Given the description of an element on the screen output the (x, y) to click on. 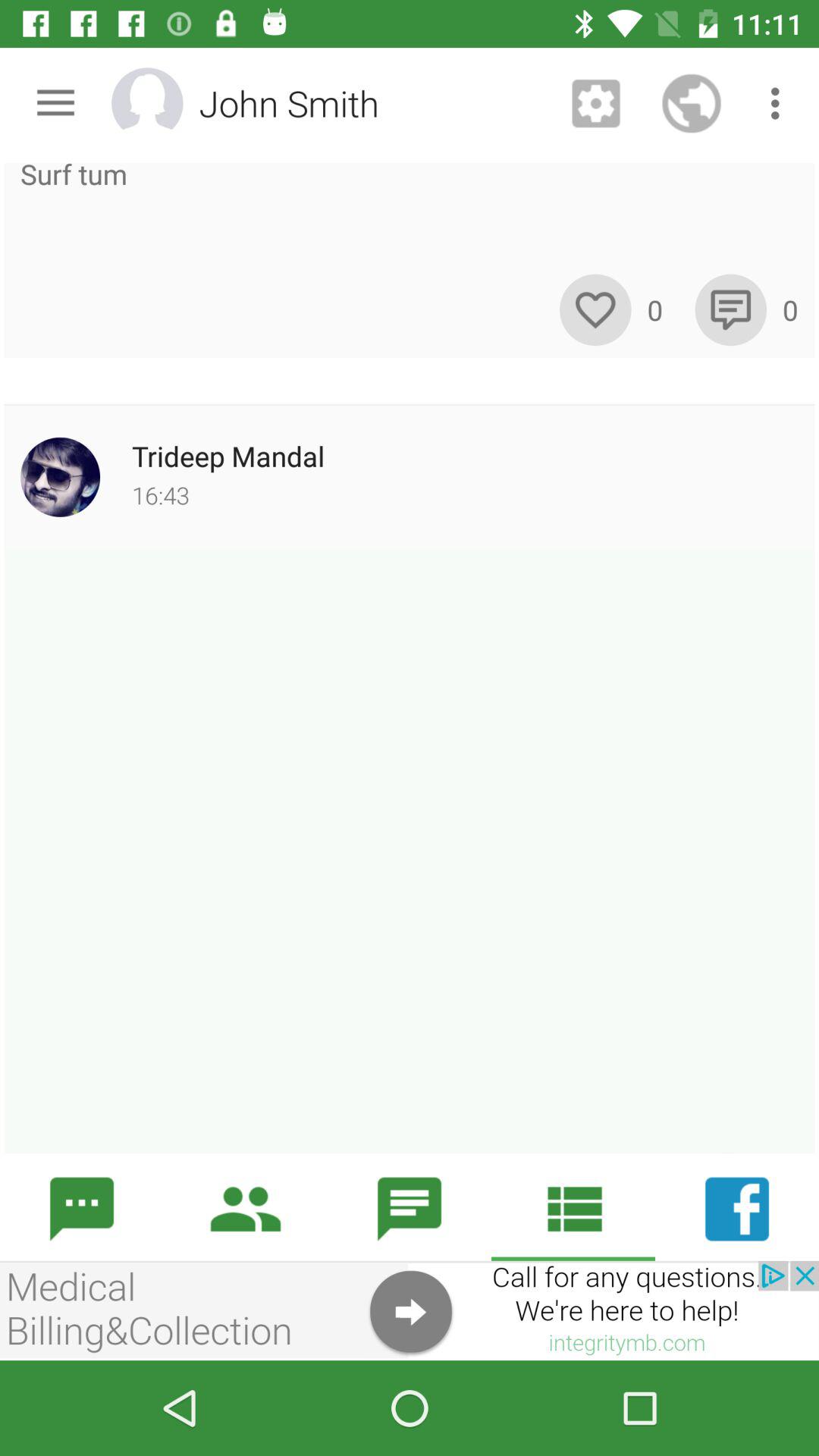
go to advertisement (409, 1310)
